Given the description of an element on the screen output the (x, y) to click on. 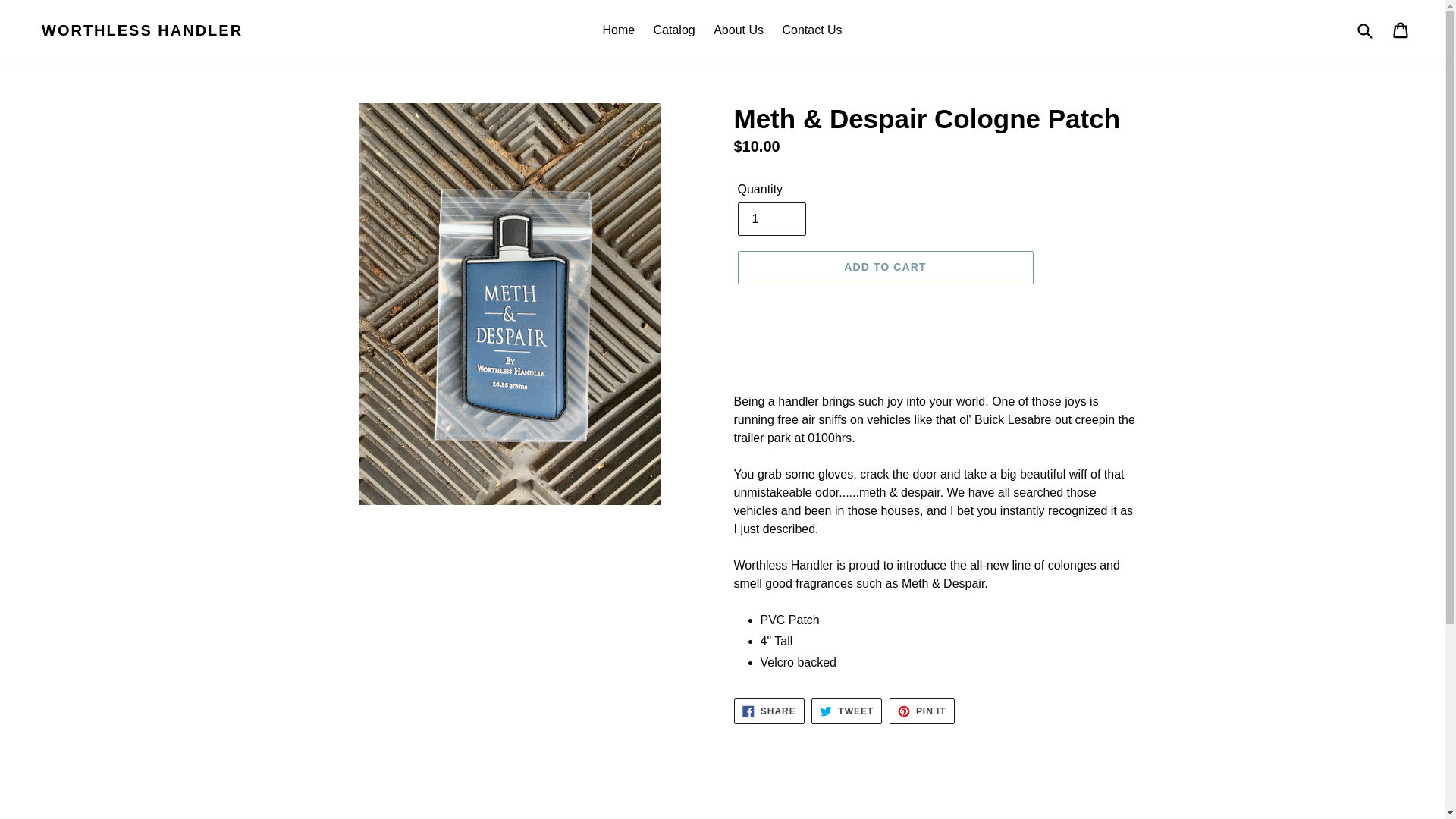
Share on Facebook (769, 710)
Tweet on Twitter (769, 710)
Home (846, 710)
Pin on Pinterest (618, 29)
WORTHLESS HANDLER (922, 710)
Catalog (922, 710)
1 (846, 710)
About Us (142, 30)
ADD TO CART (674, 29)
Contact Us (770, 218)
